Given the description of an element on the screen output the (x, y) to click on. 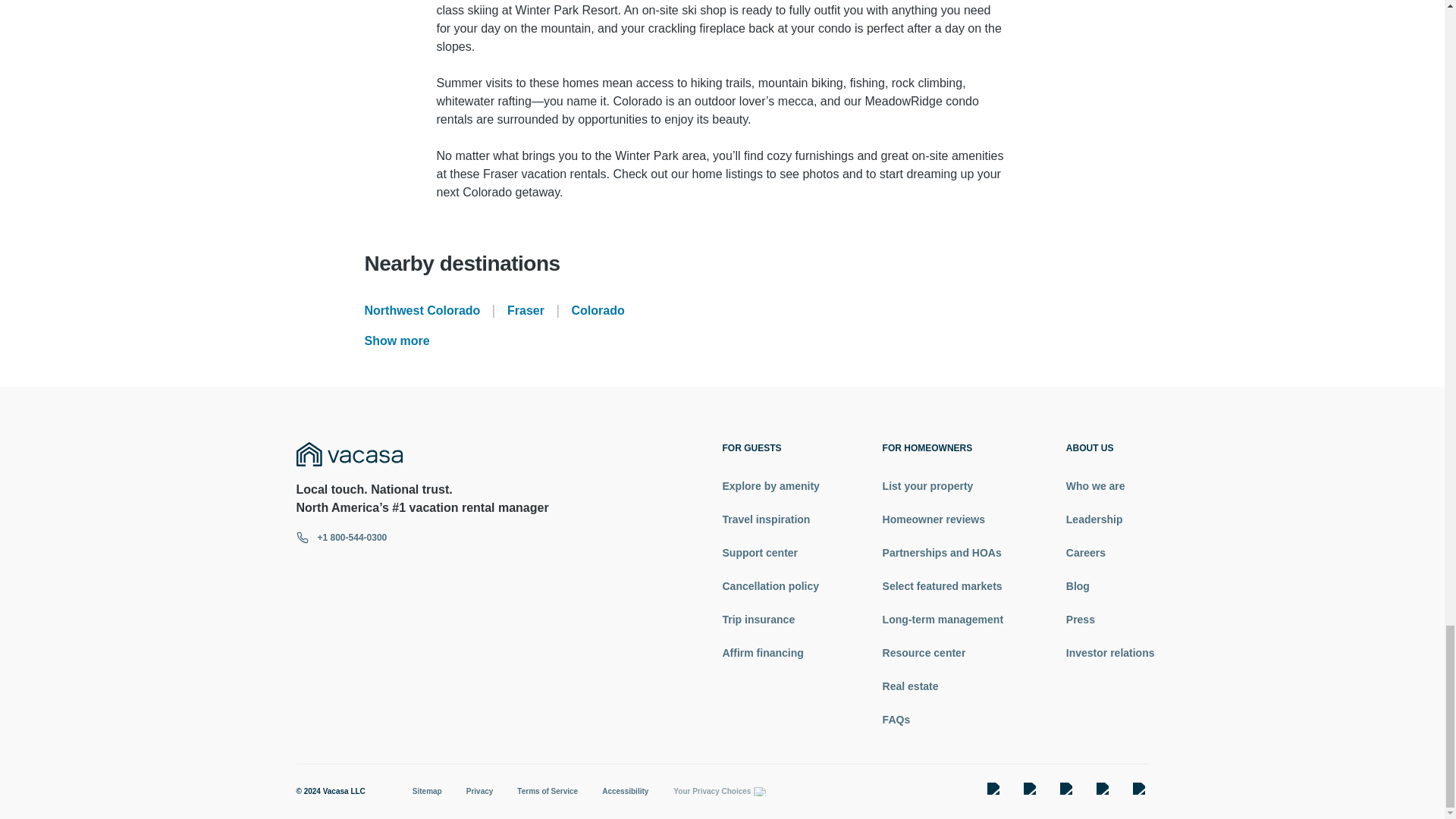
Fraser (525, 309)
Colorado (598, 309)
Northwest Colorado (422, 309)
